Given the description of an element on the screen output the (x, y) to click on. 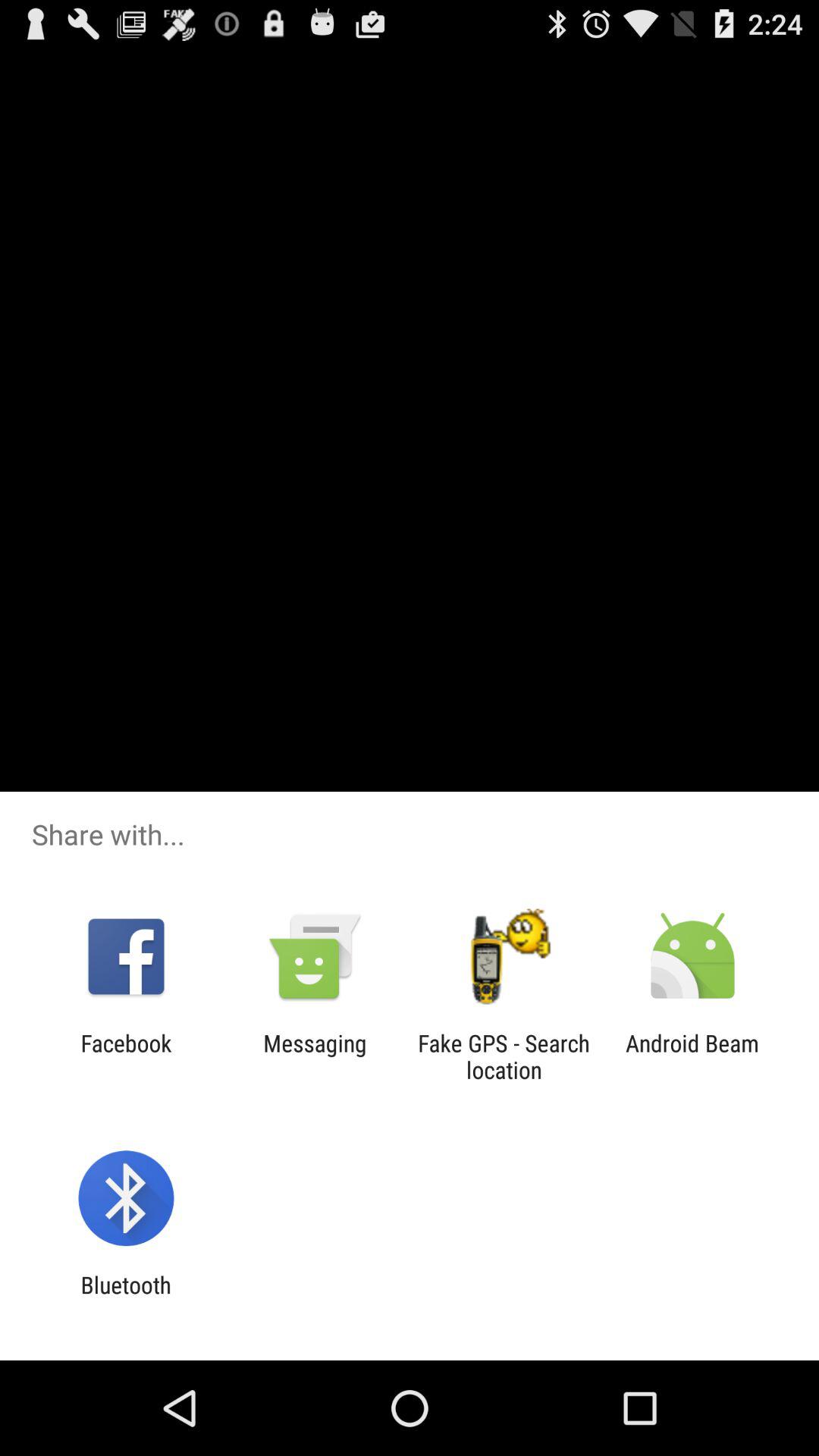
click the icon next to facebook (314, 1056)
